Given the description of an element on the screen output the (x, y) to click on. 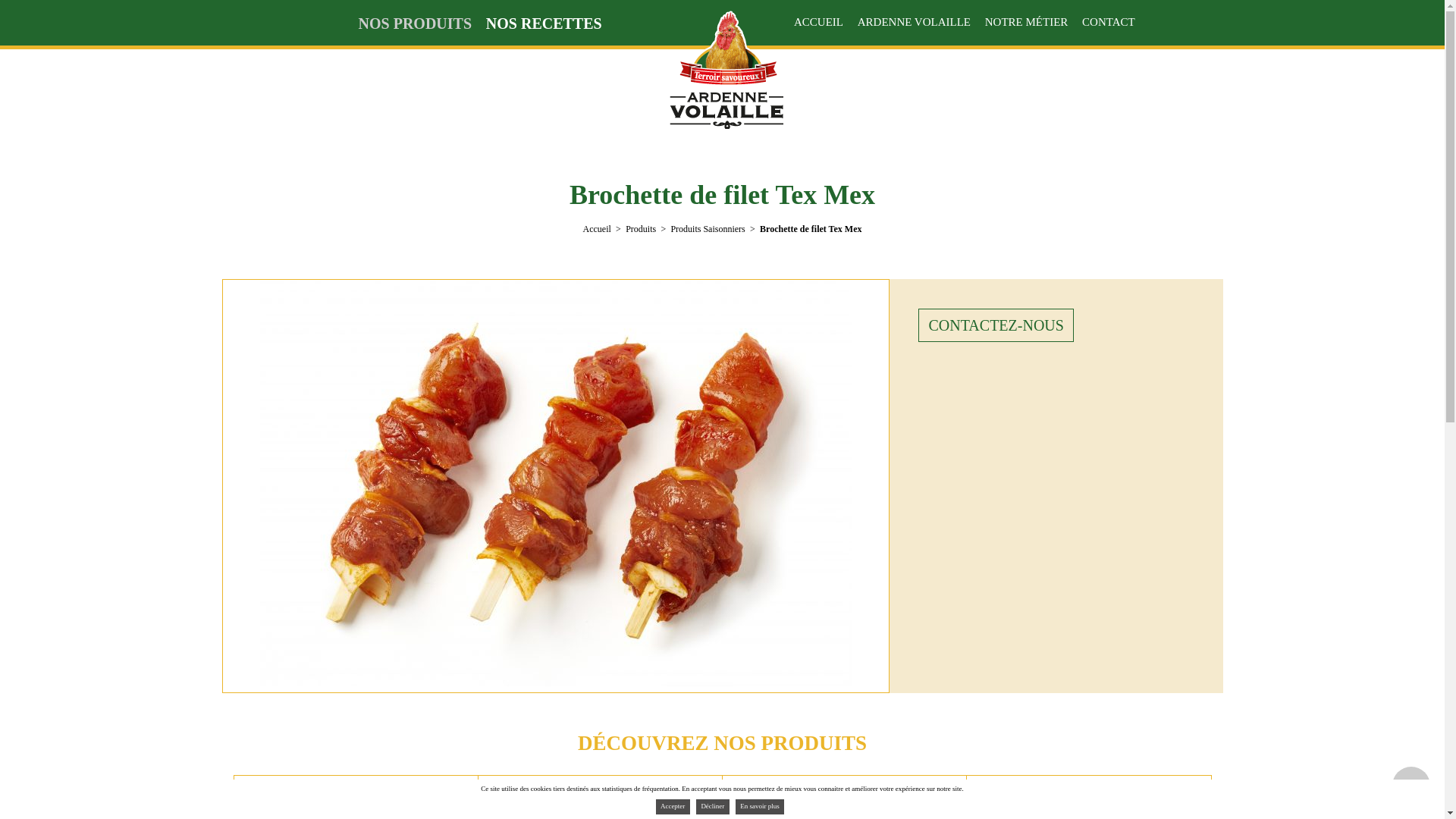
Accueil Element type: text (597, 227)
Produits Saisonniers Element type: text (707, 227)
CONTACT Element type: text (1106, 24)
NOS RECETTES Element type: text (541, 23)
Produits Element type: text (640, 227)
CONTACTEZ-NOUS Element type: text (995, 324)
Accepter Element type: text (672, 806)
En savoir plus Element type: text (759, 806)
ARDENNE VOLAILLE Element type: text (915, 24)
NOS PRODUITS Element type: text (416, 23)
ACCUEIL Element type: text (821, 24)
